Given the description of an element on the screen output the (x, y) to click on. 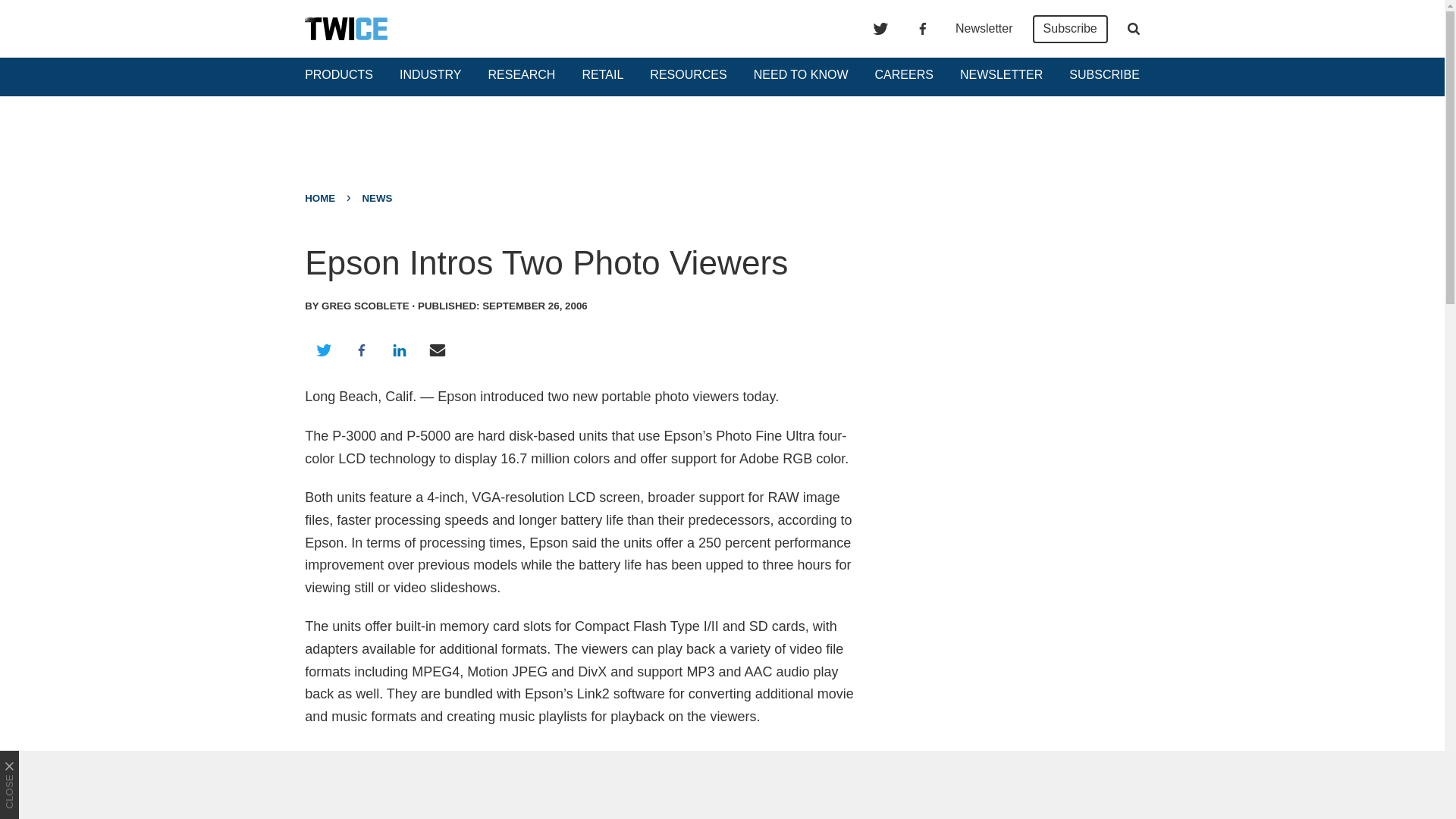
Share on Twitter (323, 350)
Posts by By Greg Scoblete (356, 306)
Share via Email (438, 350)
Share on LinkedIn (399, 350)
Share on Facebook (361, 350)
